Given the description of an element on the screen output the (x, y) to click on. 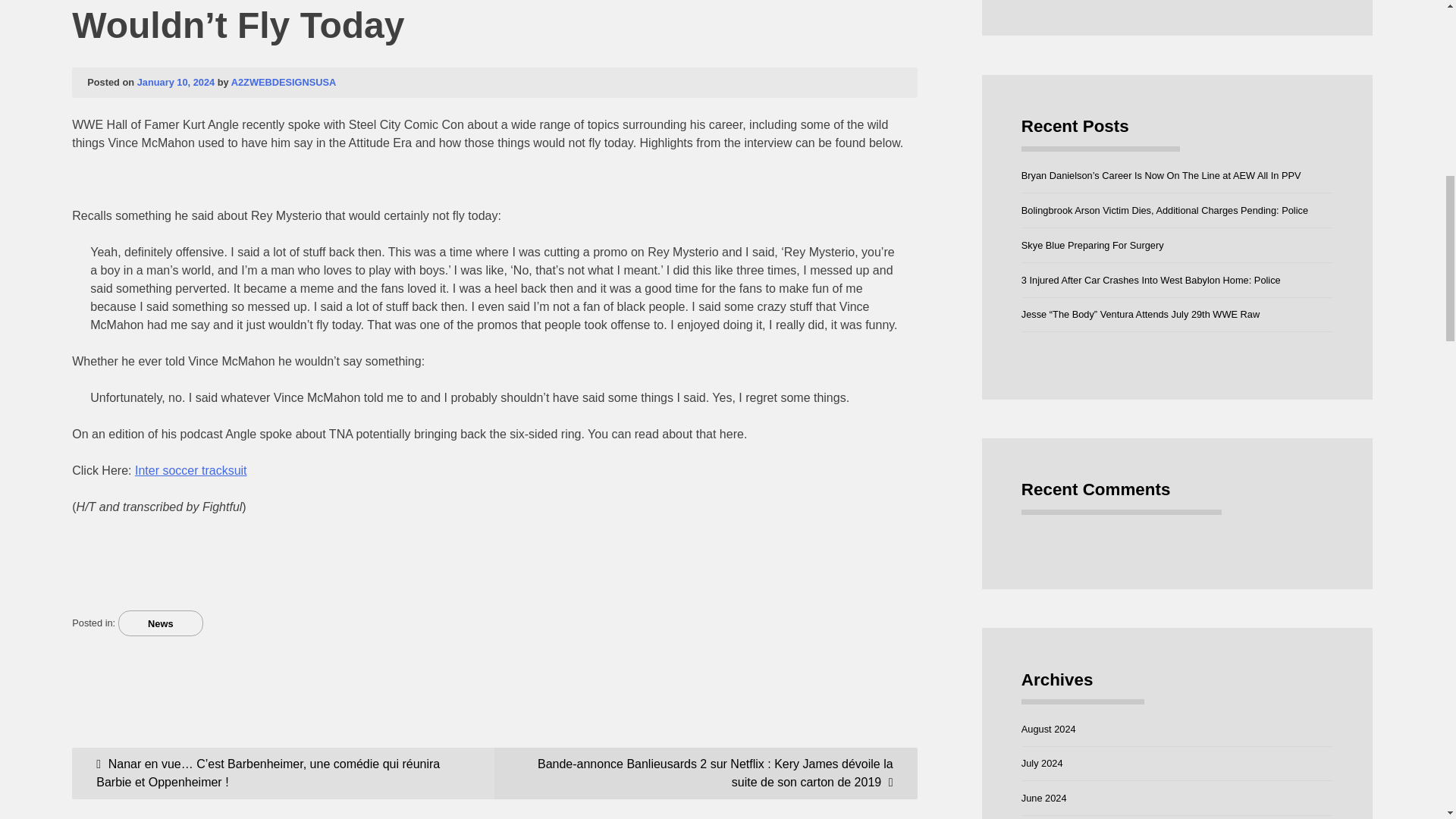
A2ZWEBDESIGNSUSA (283, 81)
Inter soccer tracksuit (191, 470)
July 2024 (1042, 763)
Skye Blue Preparing For Surgery (1092, 244)
June 2024 (1044, 797)
August 2024 (1048, 728)
3 Injured After Car Crashes Into West Babylon Home: Police (1151, 279)
January 10, 2024 (175, 81)
Inter soccer tracksuit (191, 470)
